Given the description of an element on the screen output the (x, y) to click on. 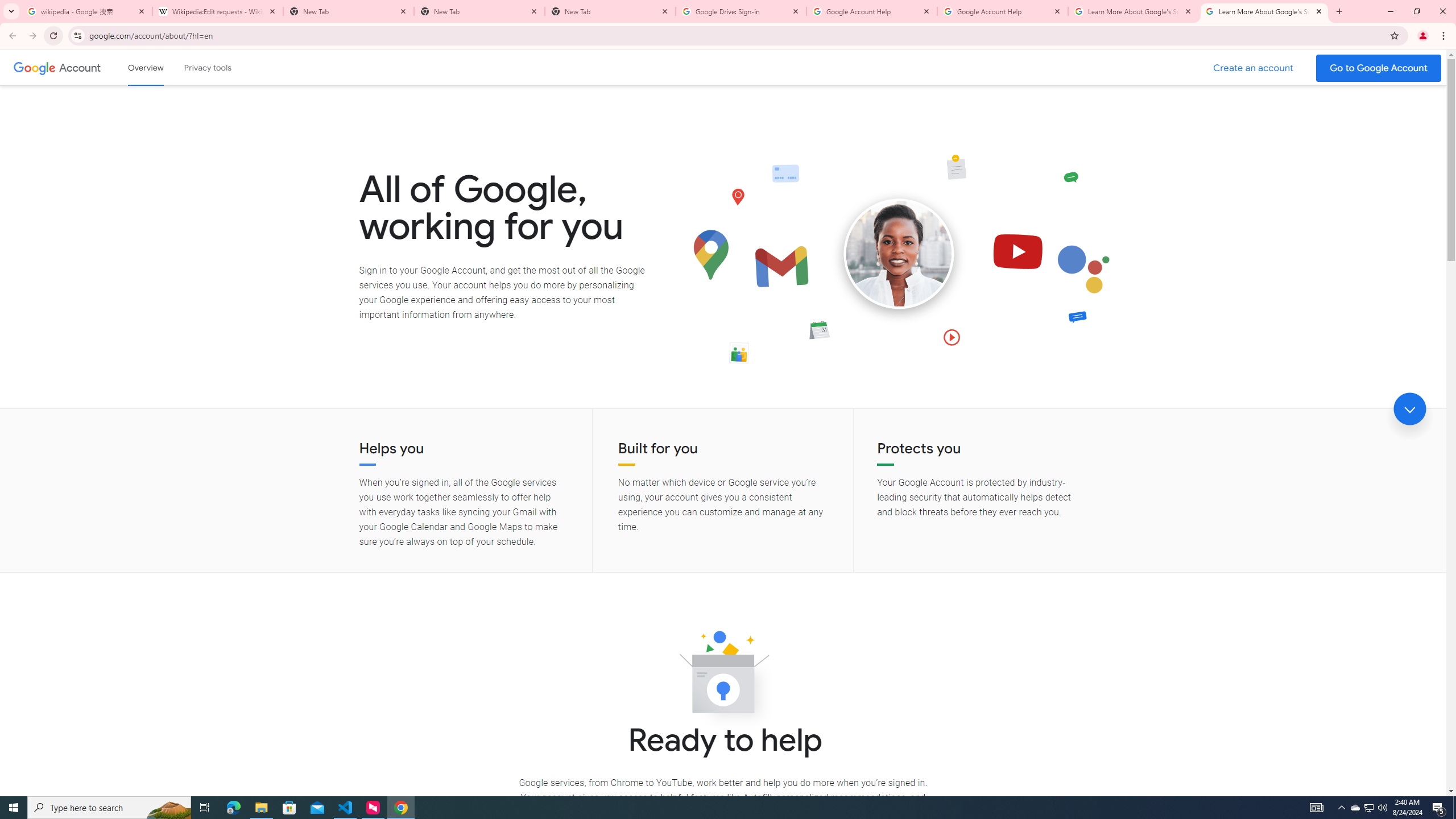
Ready to help (722, 675)
Google Drive: Sign-in (740, 11)
Jump link (1409, 408)
Google Account Help (1002, 11)
Create a Google Account (1253, 67)
